Given the description of an element on the screen output the (x, y) to click on. 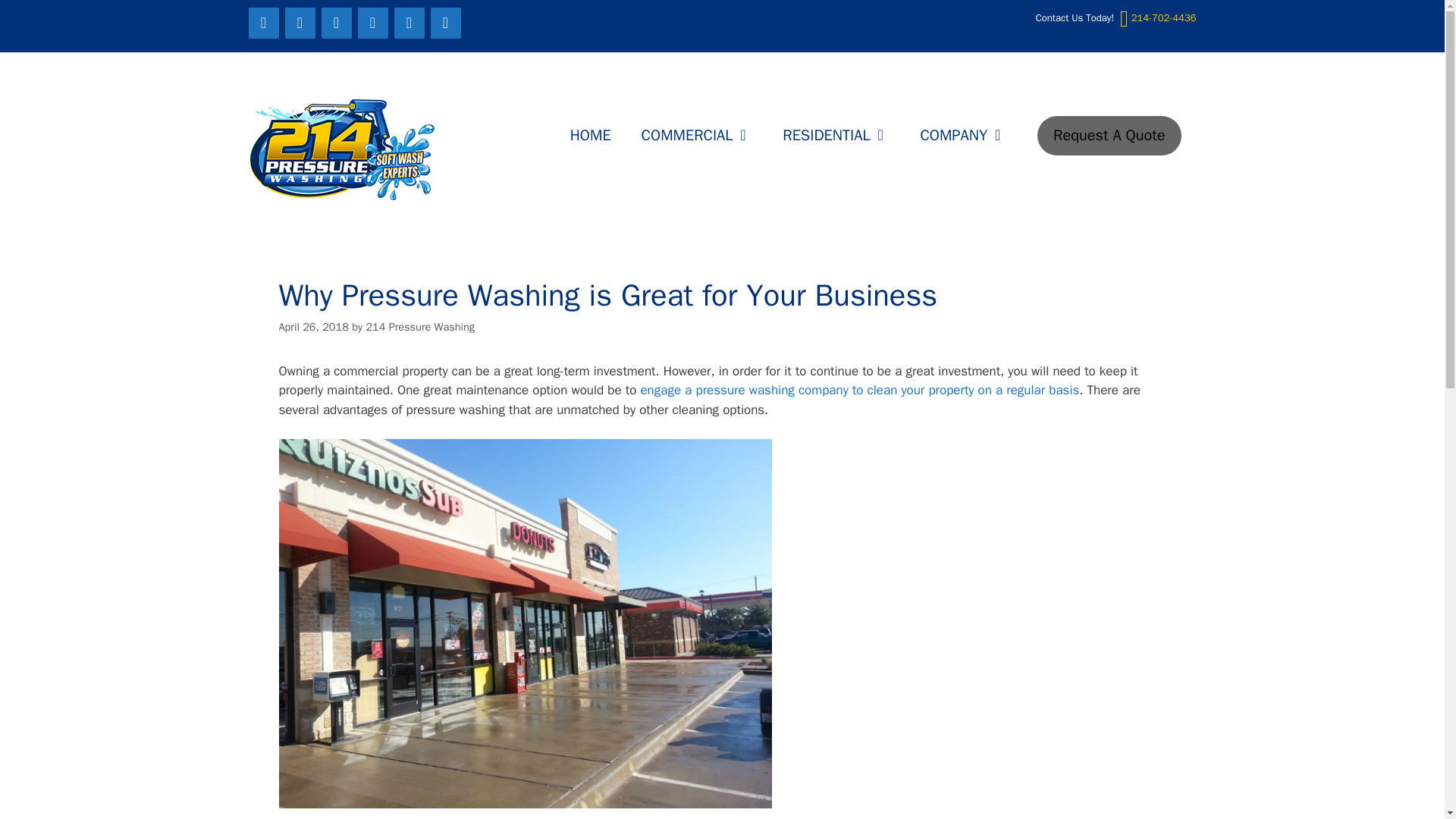
YouTube (373, 22)
214 Pressure Washing (419, 326)
RESIDENTIAL (835, 135)
Request A Quote (1108, 135)
April 26, 2018 (314, 326)
Twitter (300, 22)
View all posts by 214 Pressure Washing (419, 326)
Request A Quote (1108, 135)
214 Pressure Washing (343, 149)
